Given the description of an element on the screen output the (x, y) to click on. 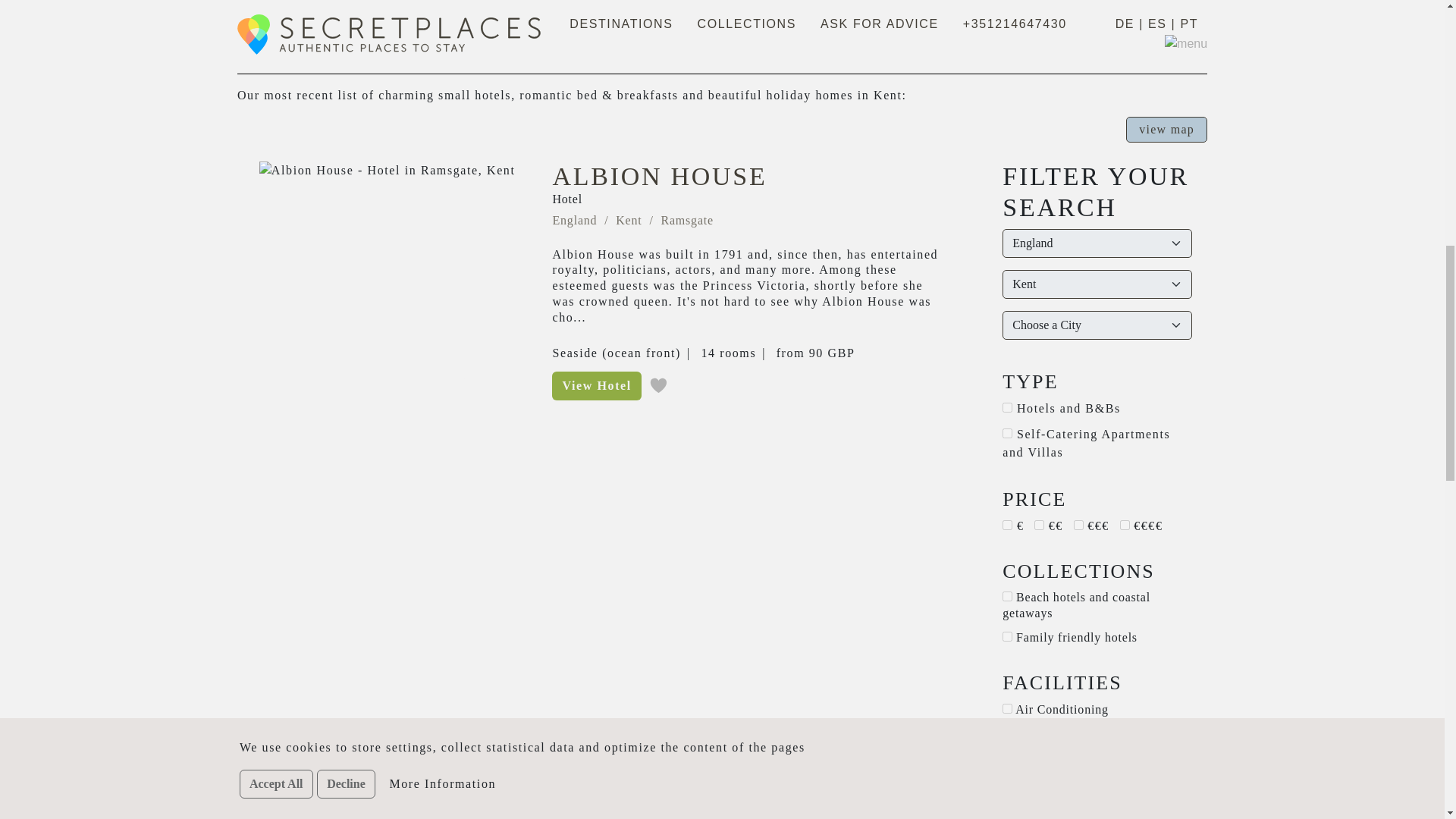
19 (1007, 757)
44 (1007, 805)
3 (1007, 524)
18 (1007, 407)
4 (1124, 524)
31 (1007, 433)
2 (1007, 732)
20 (1007, 596)
2 (1078, 524)
1 (1038, 524)
